Given the description of an element on the screen output the (x, y) to click on. 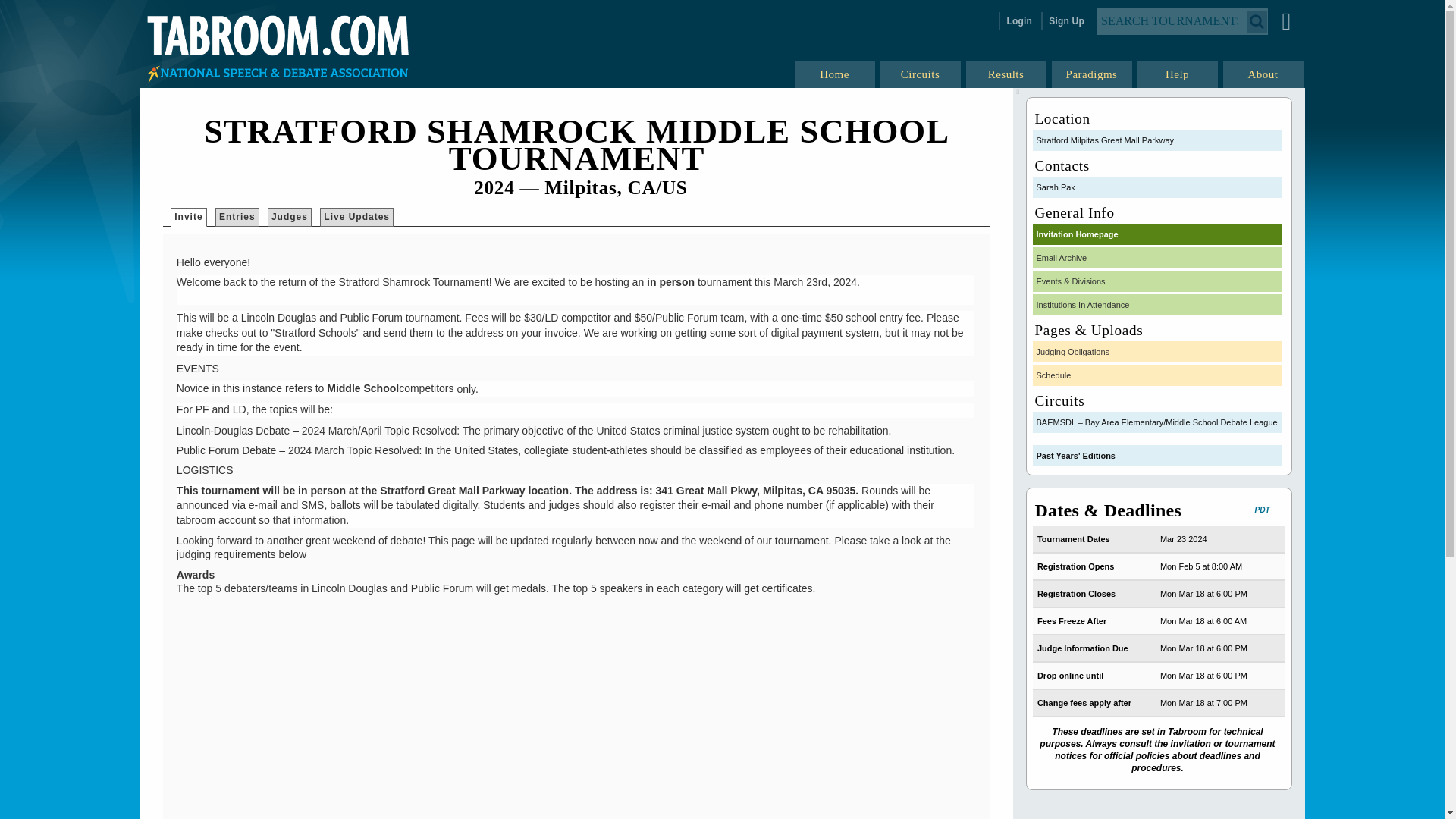
Stratford Milpitas Great Mall Parkway (1157, 139)
Schedule (1157, 374)
Home (835, 73)
Circuits (919, 73)
Results (1007, 73)
Judges (288, 216)
Login (1018, 21)
Institutions In Attendance (1157, 304)
Paradigms (1091, 73)
Help (1178, 73)
